Given the description of an element on the screen output the (x, y) to click on. 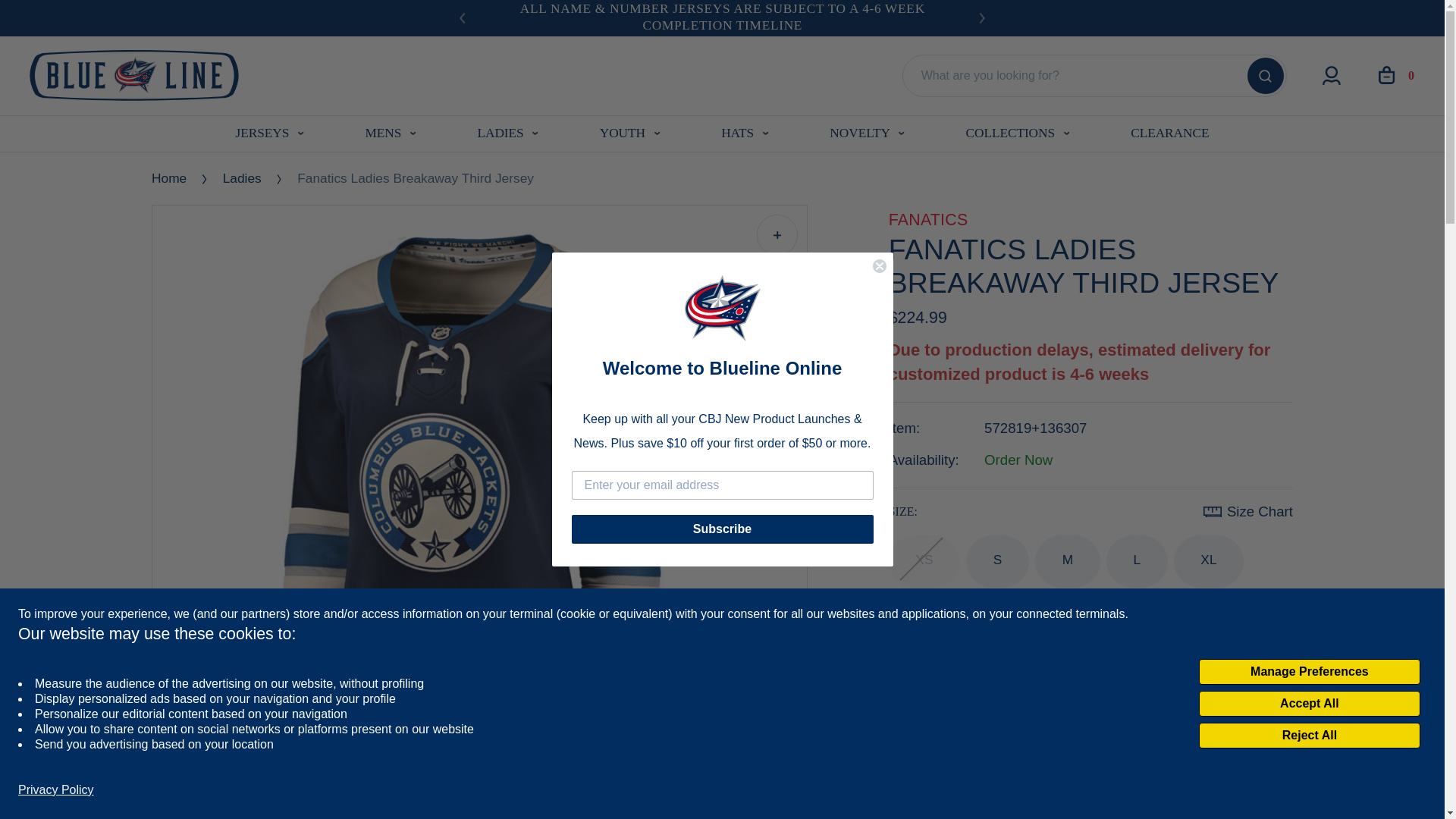
0 (928, 804)
MENS (390, 133)
Manage Preferences (1309, 671)
Search (1265, 75)
0 (1395, 75)
JERSEYS (269, 133)
Accept All (1309, 703)
Logo (136, 75)
